Given the description of an element on the screen output the (x, y) to click on. 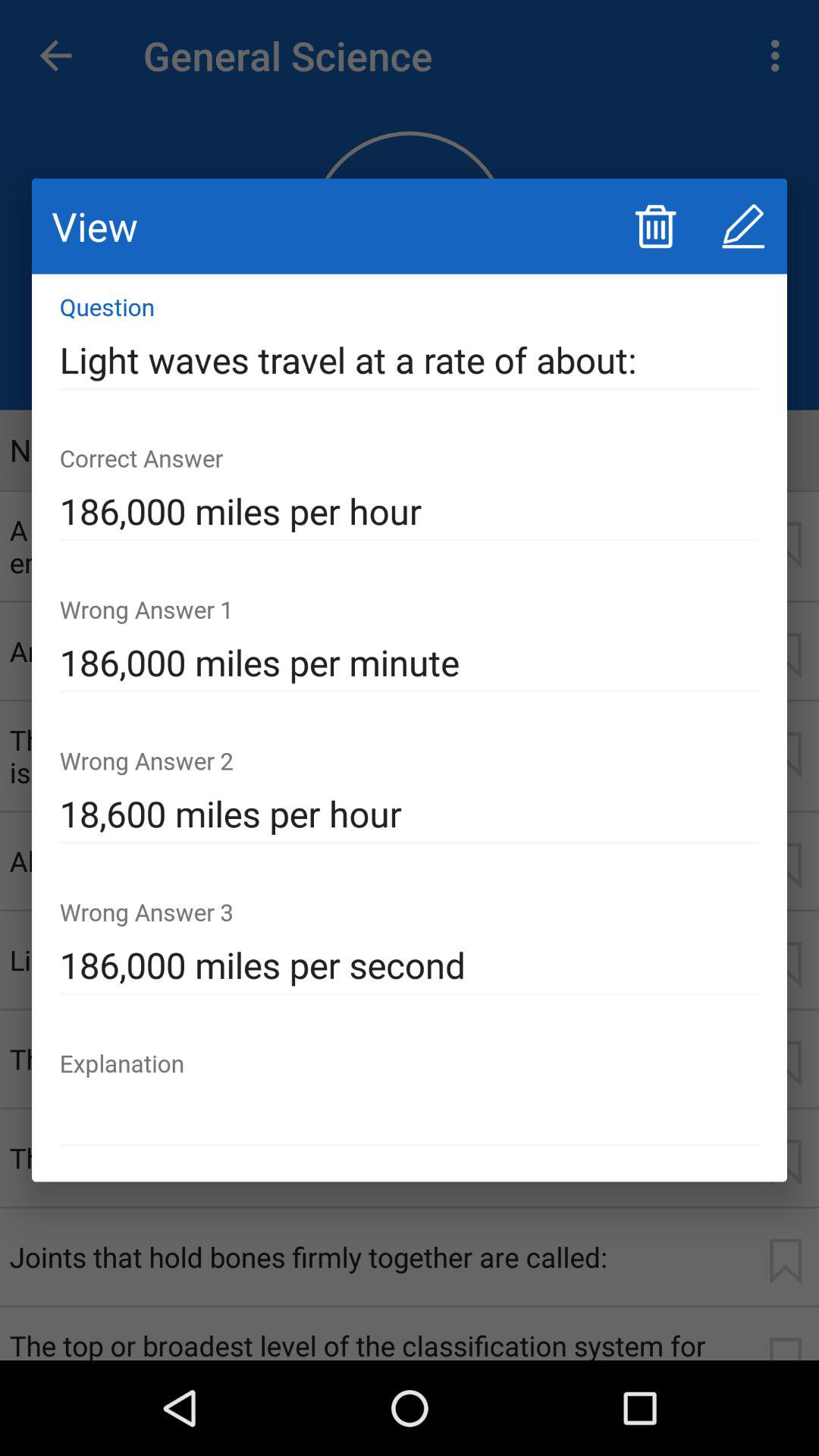
choose the item at the bottom (409, 1116)
